Given the description of an element on the screen output the (x, y) to click on. 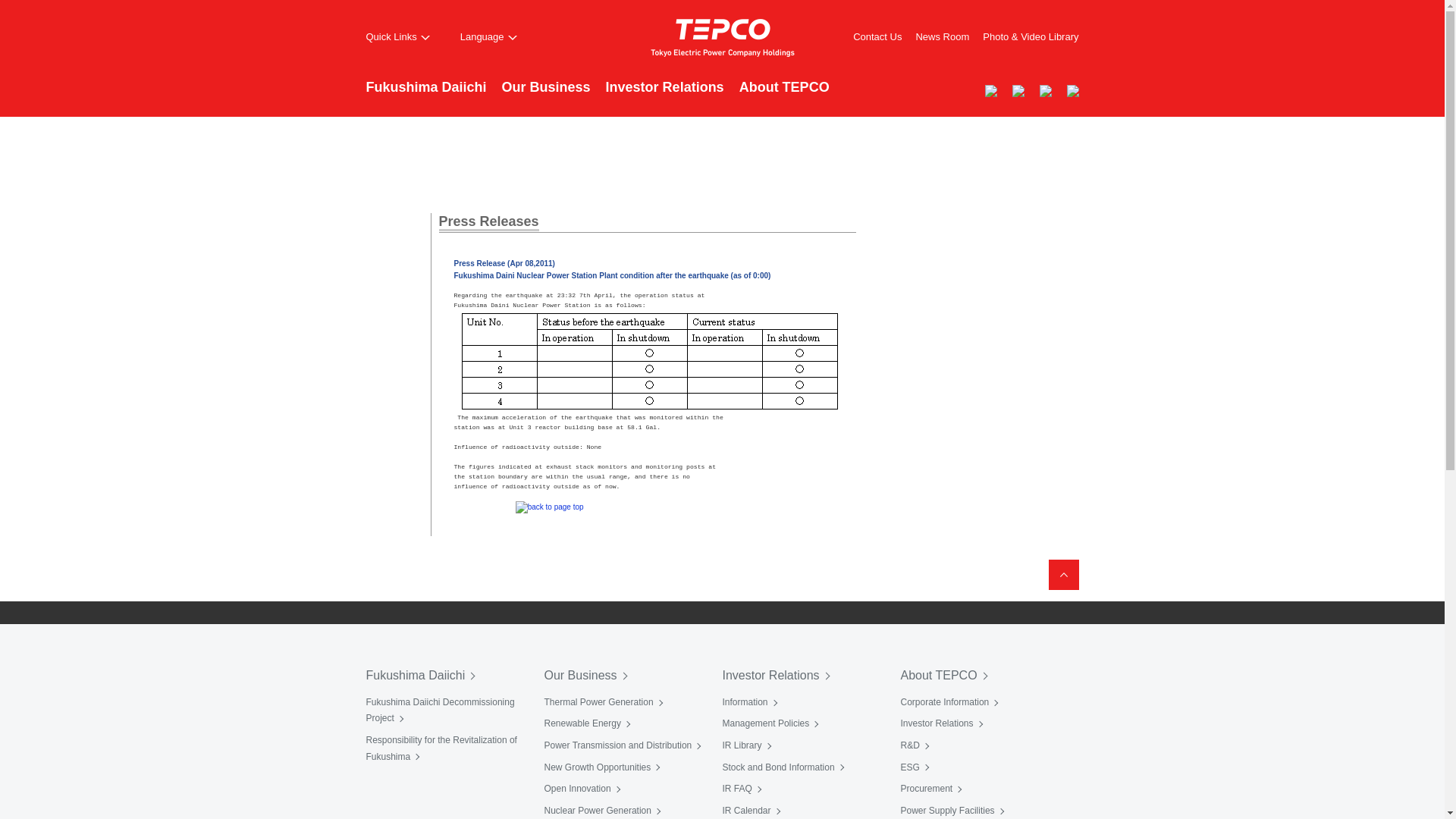
Quick Links (397, 37)
Contact Us (877, 36)
News Room (942, 36)
Fukushima Daiichi (425, 95)
Language (488, 37)
search (933, 89)
